Given the description of an element on the screen output the (x, y) to click on. 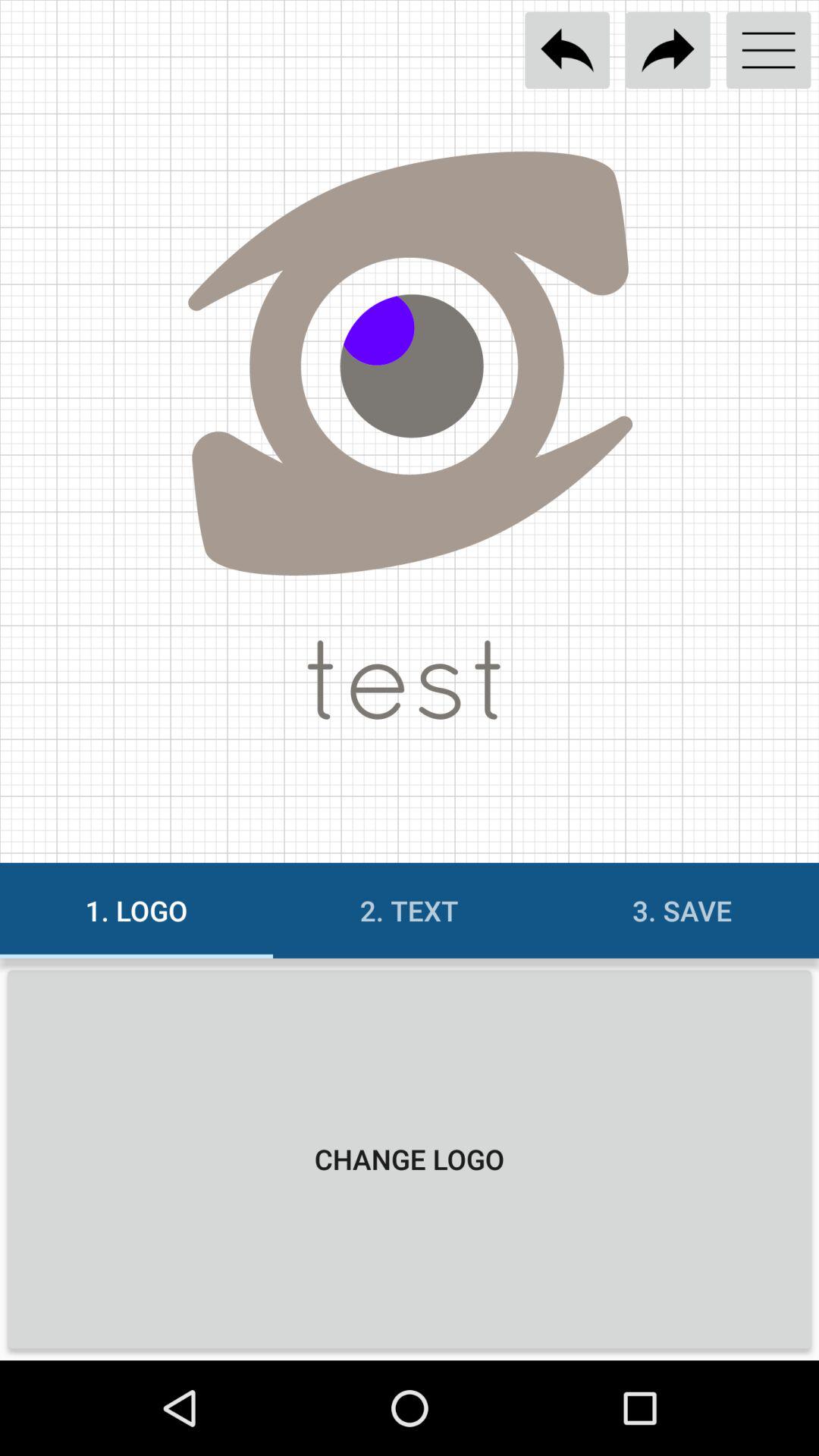
click to the menu box (768, 50)
